Given the description of an element on the screen output the (x, y) to click on. 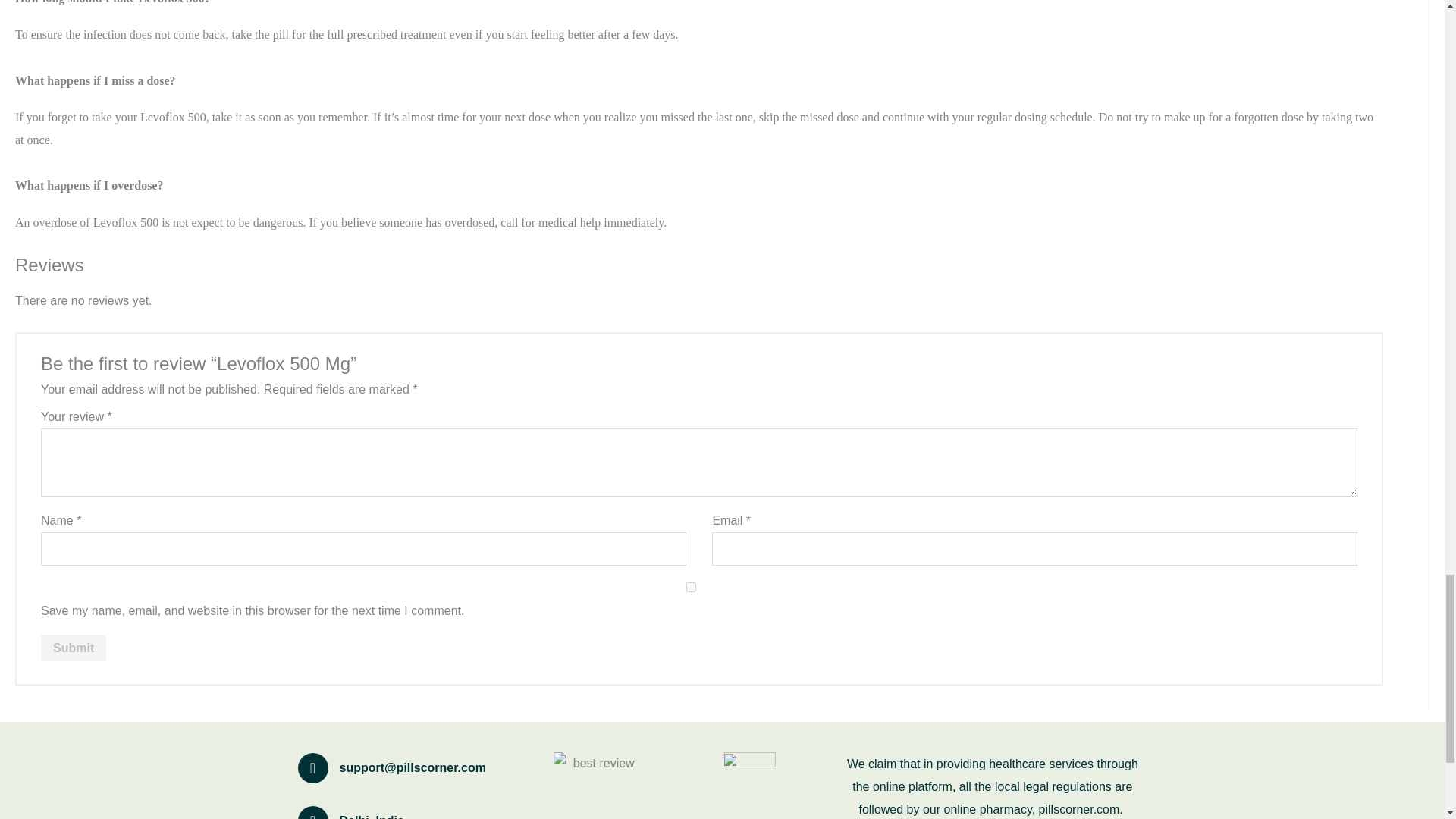
Submit (73, 647)
yes (690, 587)
